Given the description of an element on the screen output the (x, y) to click on. 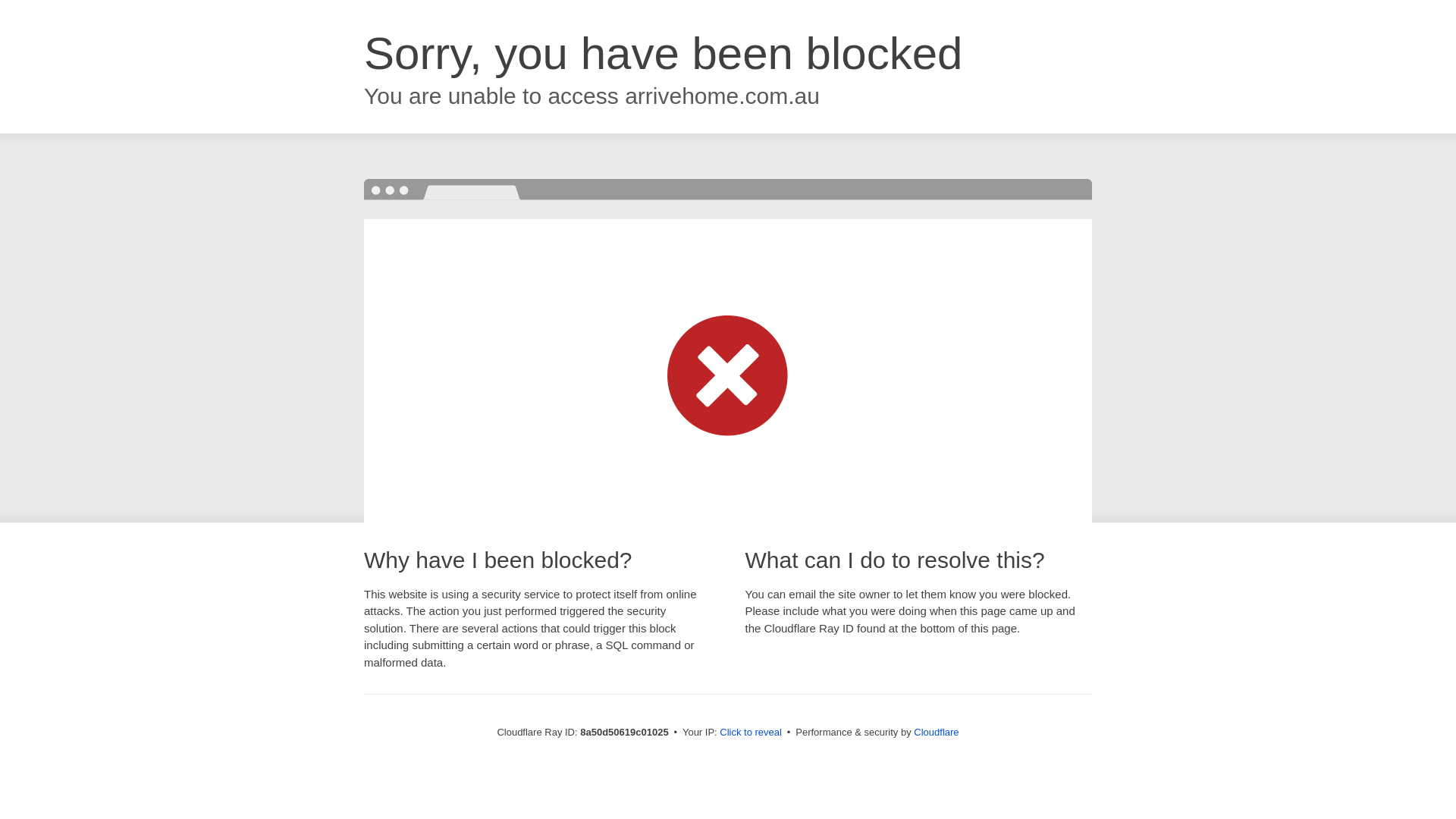
Click to reveal (750, 732)
Cloudflare (936, 731)
